Given the description of an element on the screen output the (x, y) to click on. 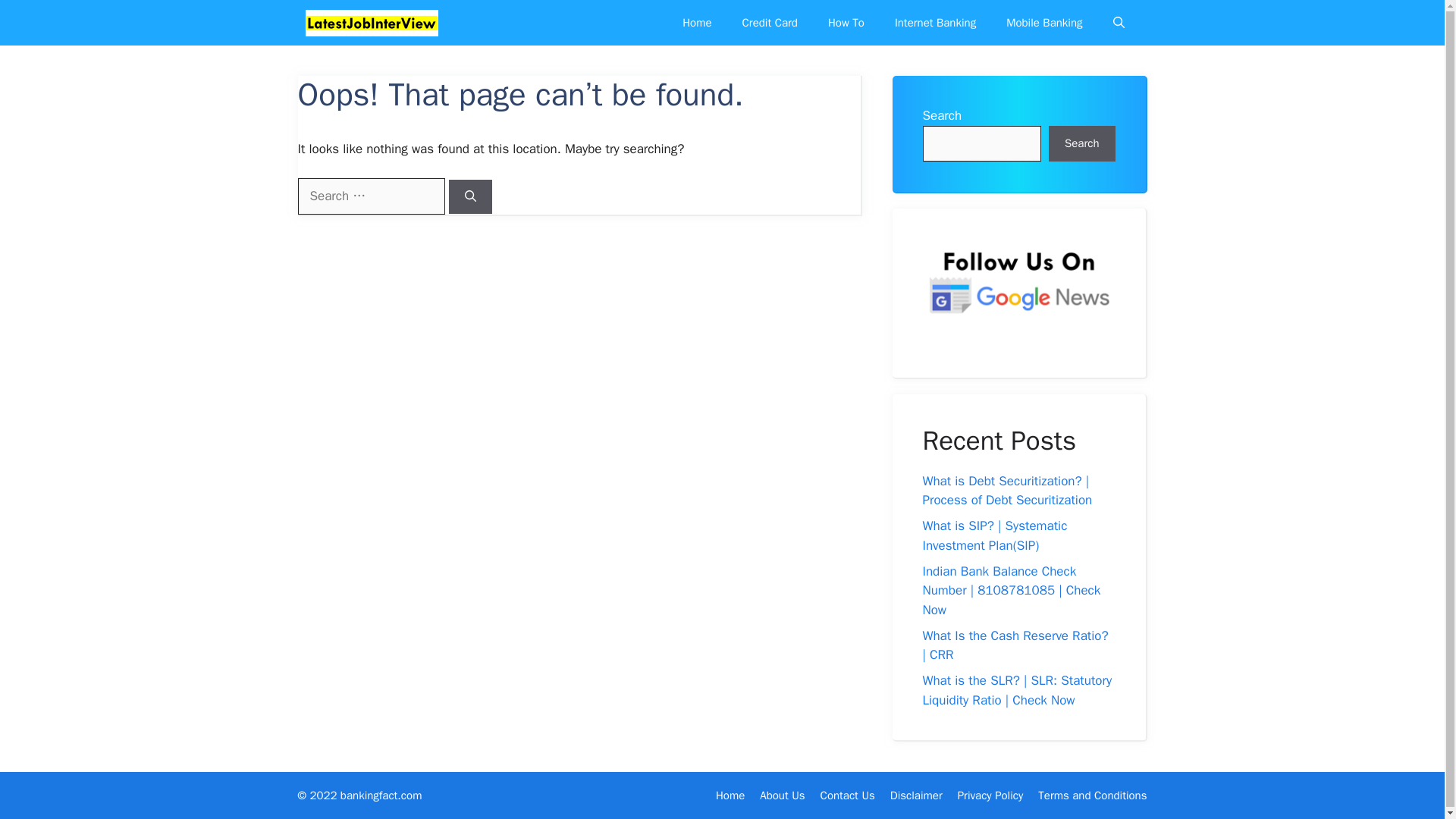
Home (696, 22)
Search for: (370, 196)
Search (1081, 144)
Credit Card (769, 22)
latestjobinterview.in (371, 22)
Home (730, 795)
How To (845, 22)
Privacy Policy (990, 795)
Internet Banking (935, 22)
Contact Us (848, 795)
Disclaimer (915, 795)
Mobile Banking (1044, 22)
Terms and Conditions (1092, 795)
About Us (782, 795)
